Given the description of an element on the screen output the (x, y) to click on. 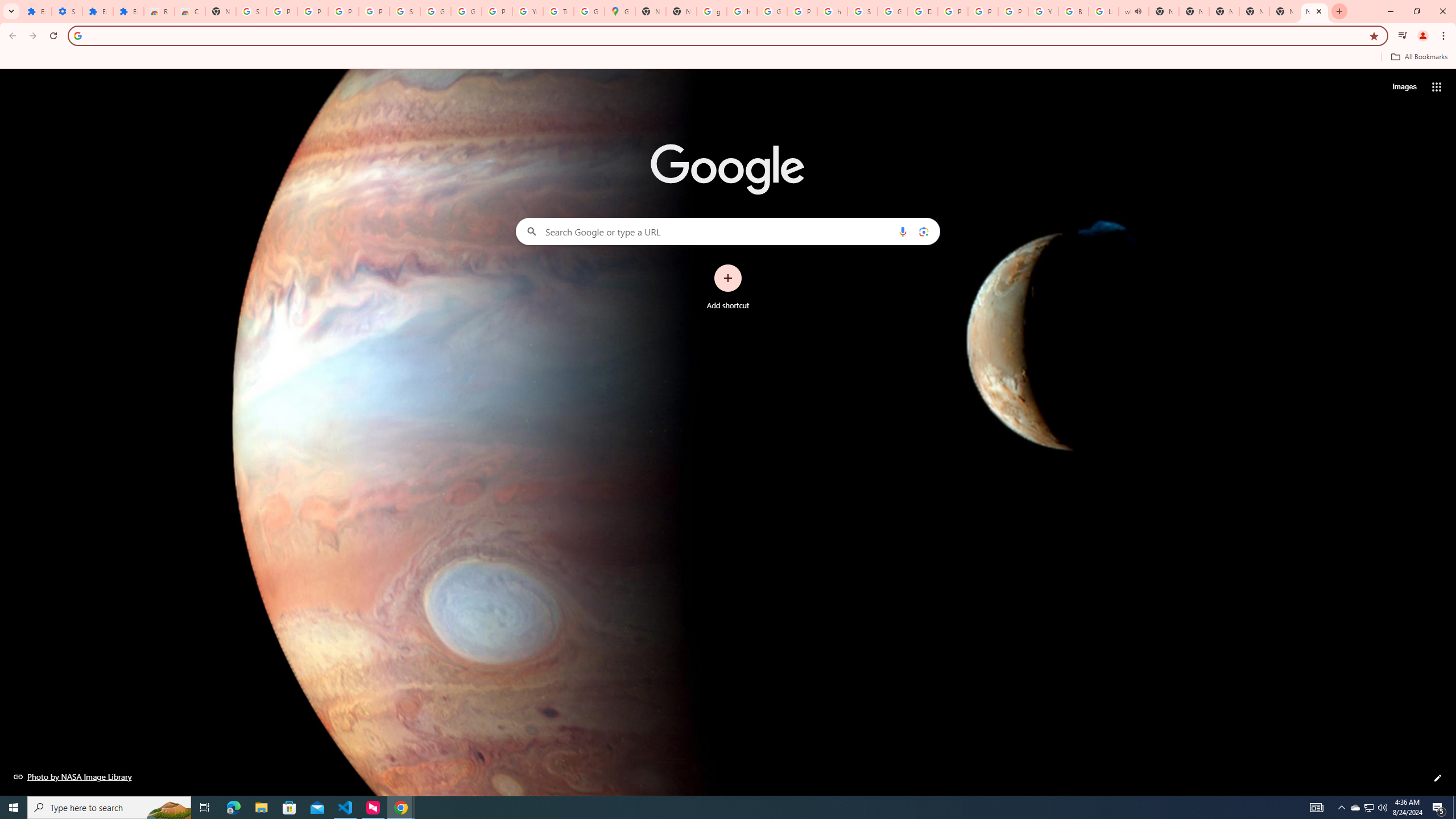
https://scholar.google.com/ (832, 11)
YouTube (527, 11)
Search by image (922, 230)
Add shortcut (727, 287)
